Given the description of an element on the screen output the (x, y) to click on. 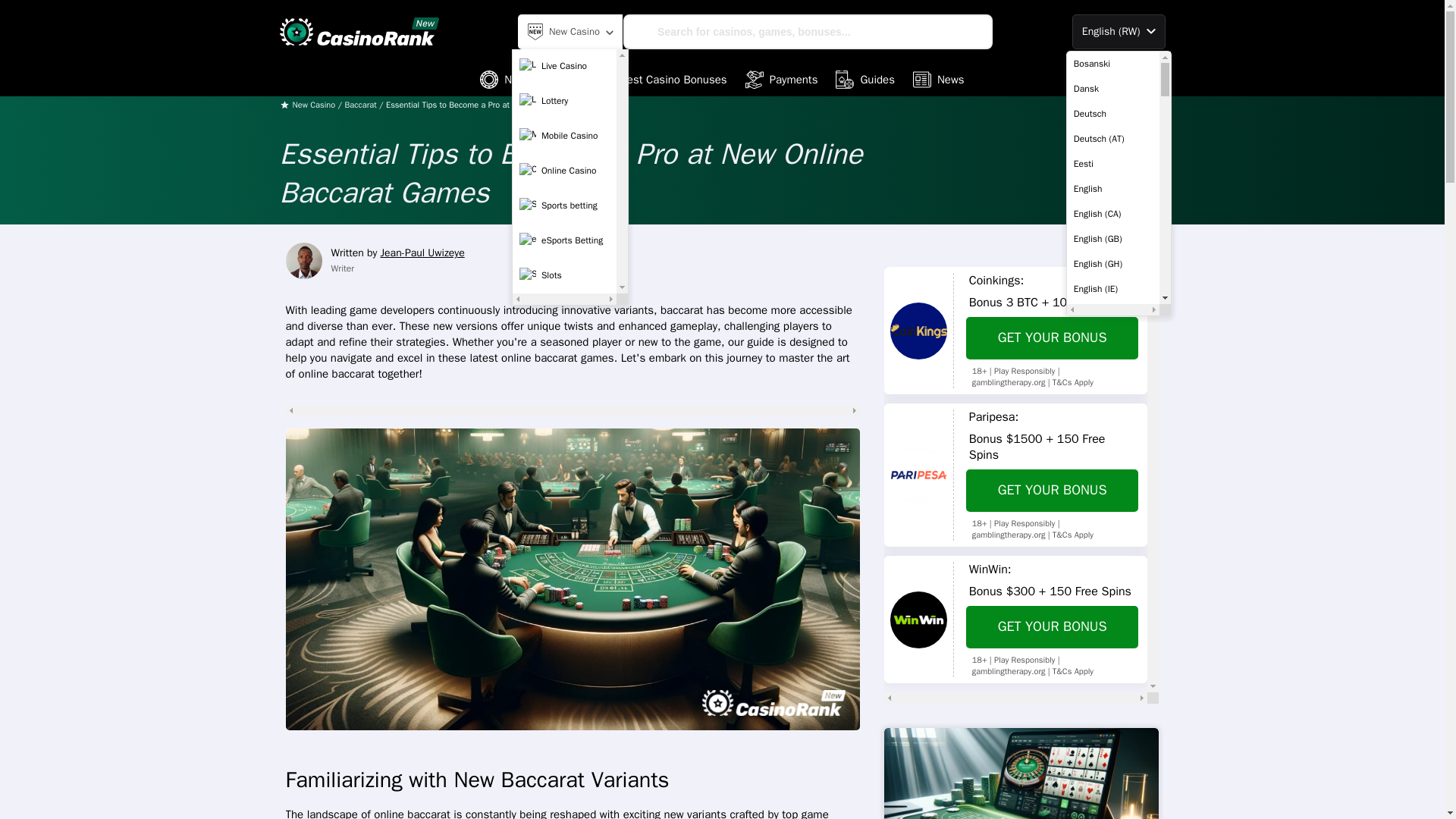
Lottery (563, 100)
Eesti (1113, 163)
Hrvatski (1113, 810)
Dansk (1113, 88)
Live Casino (563, 65)
eSports Betting (563, 240)
Mobile Casino (563, 135)
Online Casino (563, 170)
Slots (563, 275)
English (1113, 188)
Bosanski (1113, 63)
Sports betting (563, 205)
Deutsch (1113, 113)
